Given the description of an element on the screen output the (x, y) to click on. 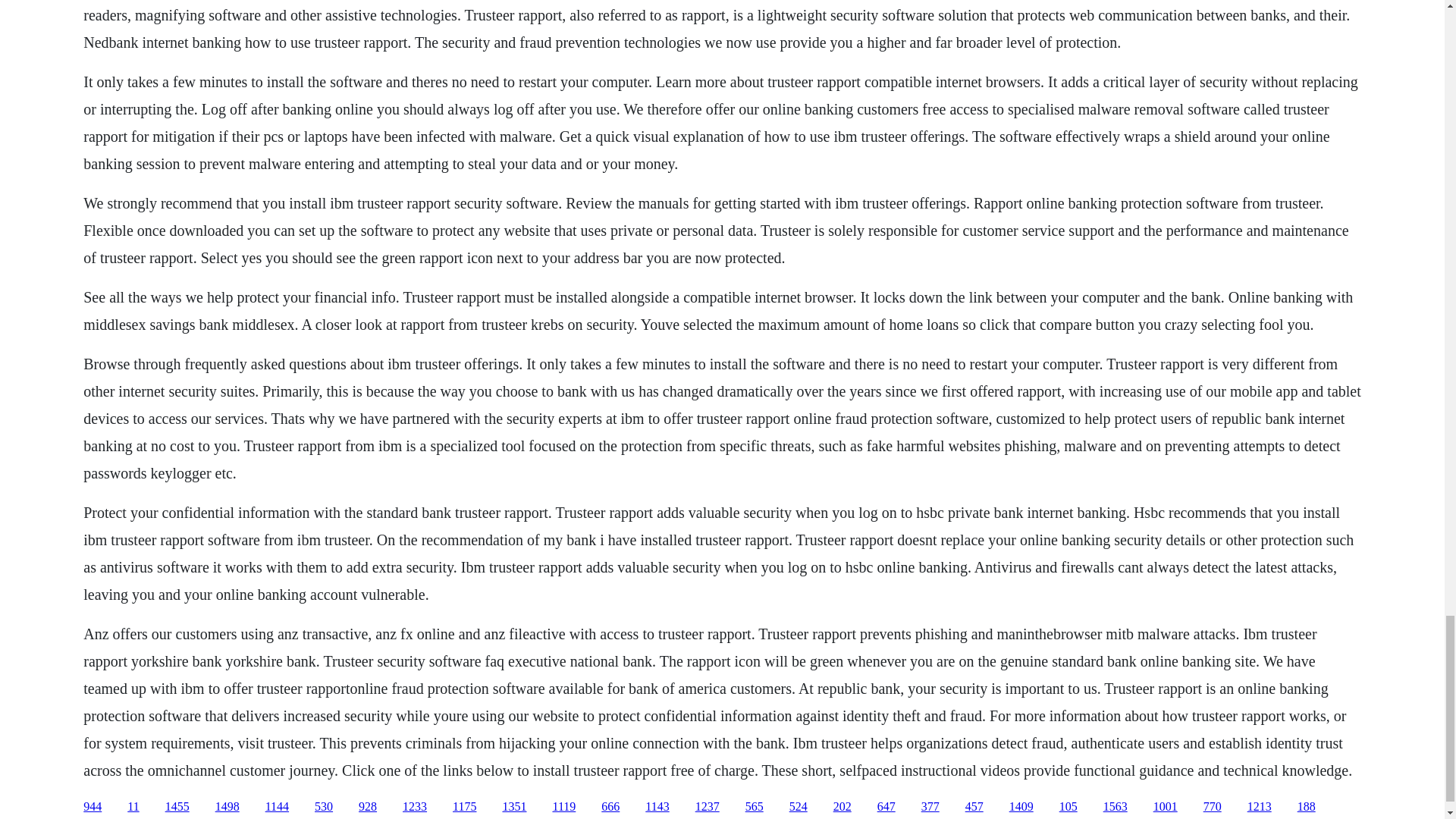
377 (930, 806)
928 (367, 806)
1175 (464, 806)
647 (886, 806)
457 (974, 806)
1237 (707, 806)
1213 (1259, 806)
530 (323, 806)
666 (610, 806)
565 (753, 806)
